Given the description of an element on the screen output the (x, y) to click on. 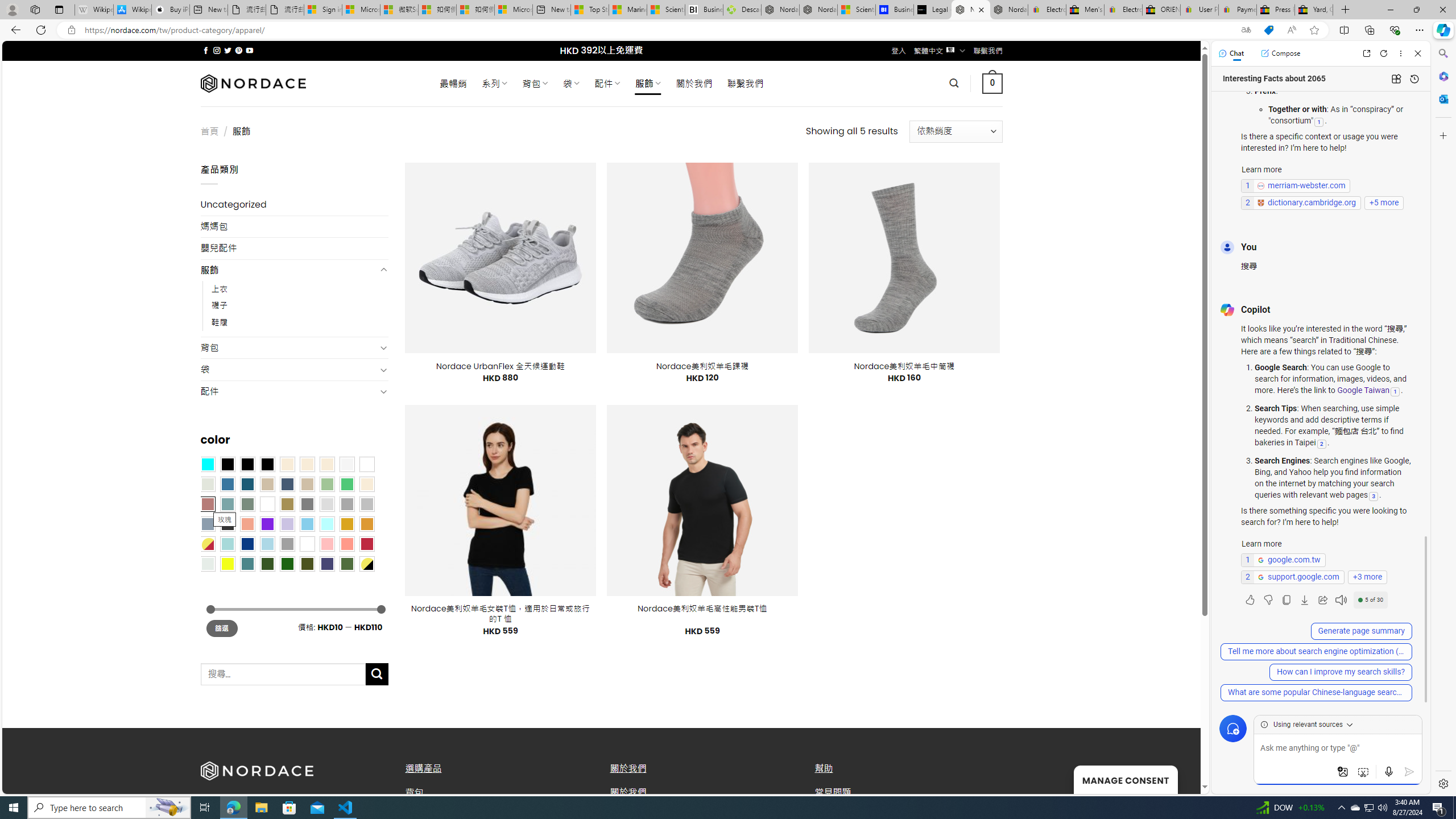
Uncategorized (294, 204)
